Given the description of an element on the screen output the (x, y) to click on. 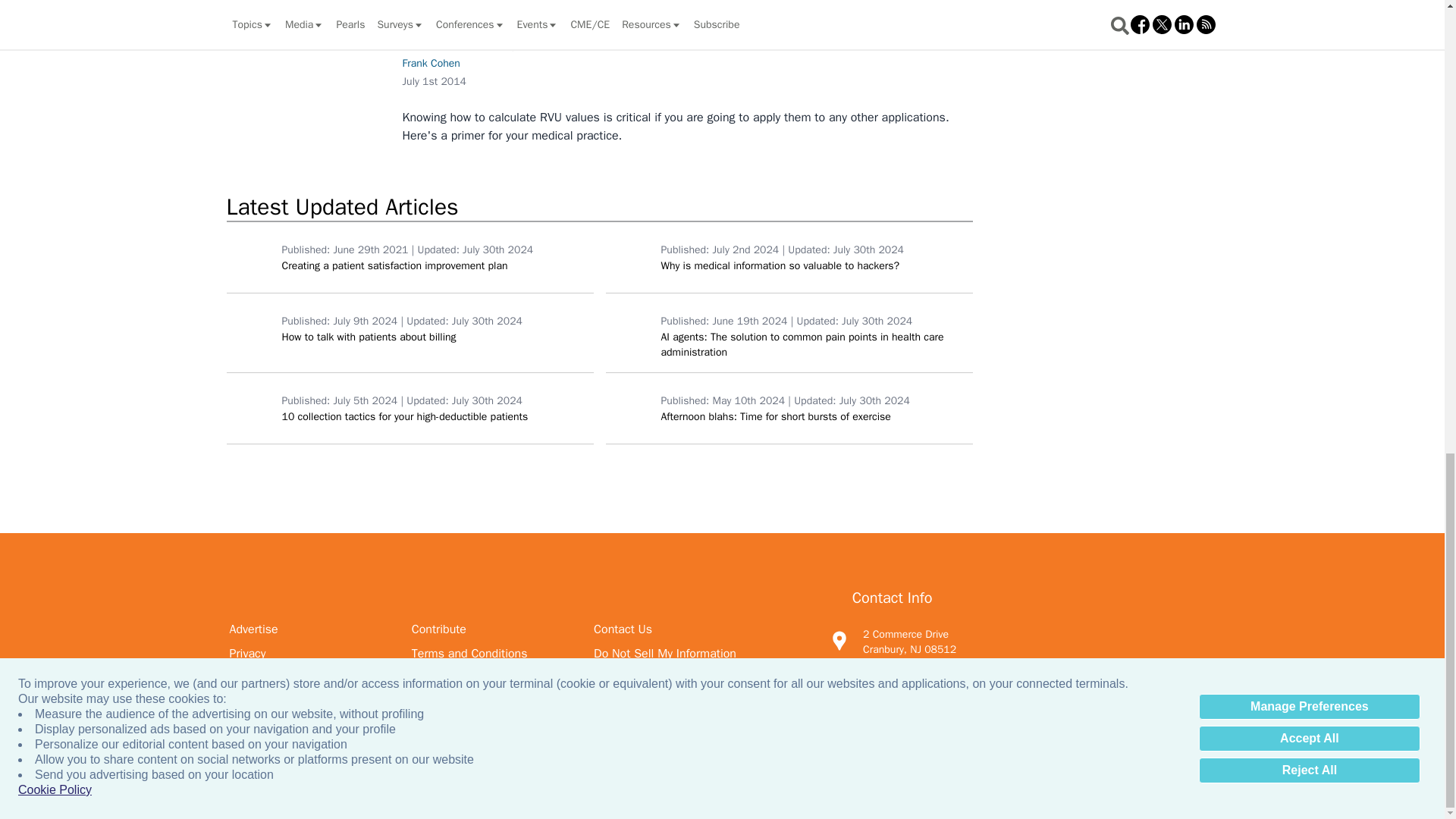
Bhavesh Vadhani (629, 257)
happy man pointing orange background (250, 257)
money text background (250, 407)
